Given the description of an element on the screen output the (x, y) to click on. 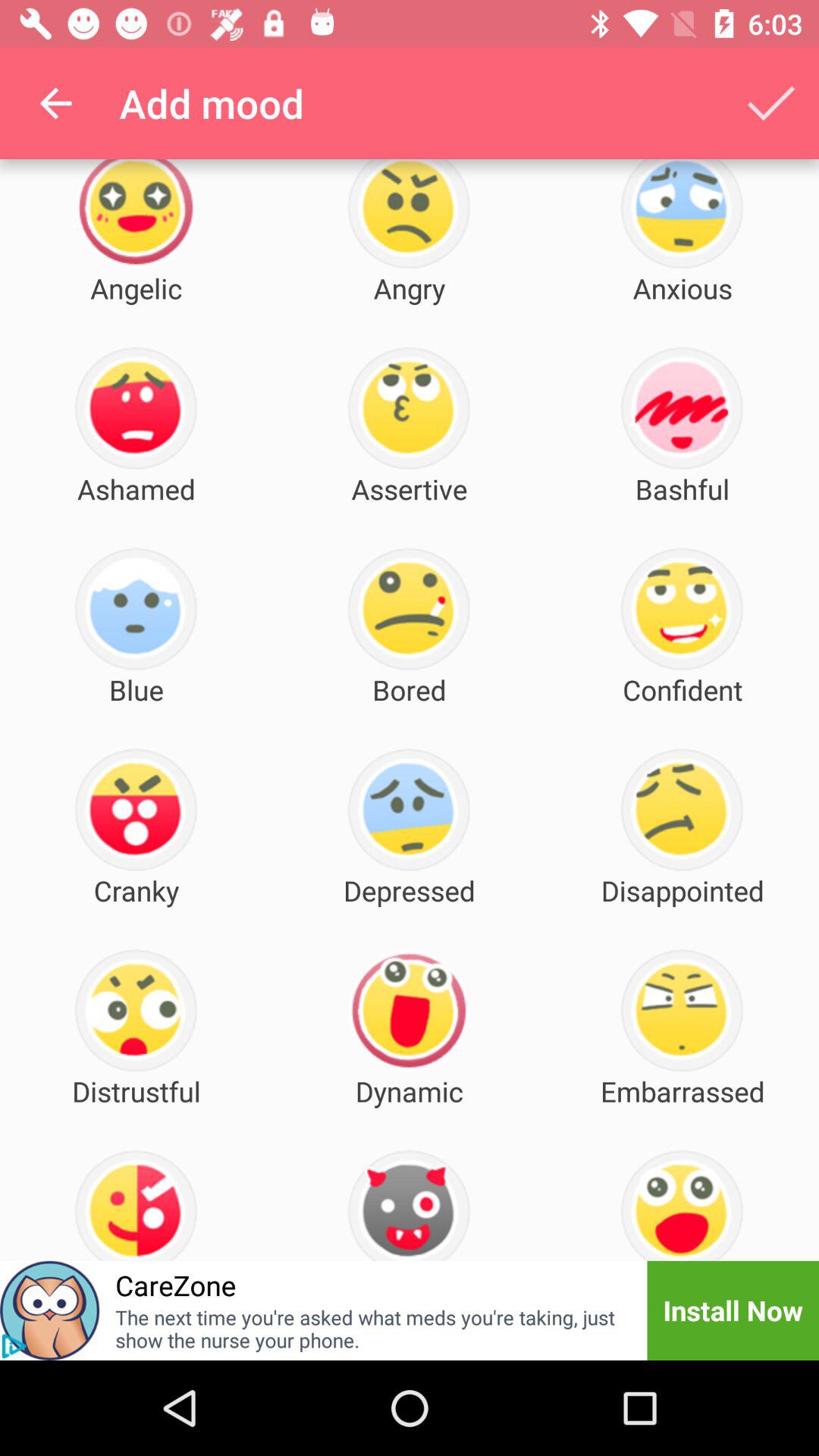
launch the icon to the left of the next time (14, 1346)
